Given the description of an element on the screen output the (x, y) to click on. 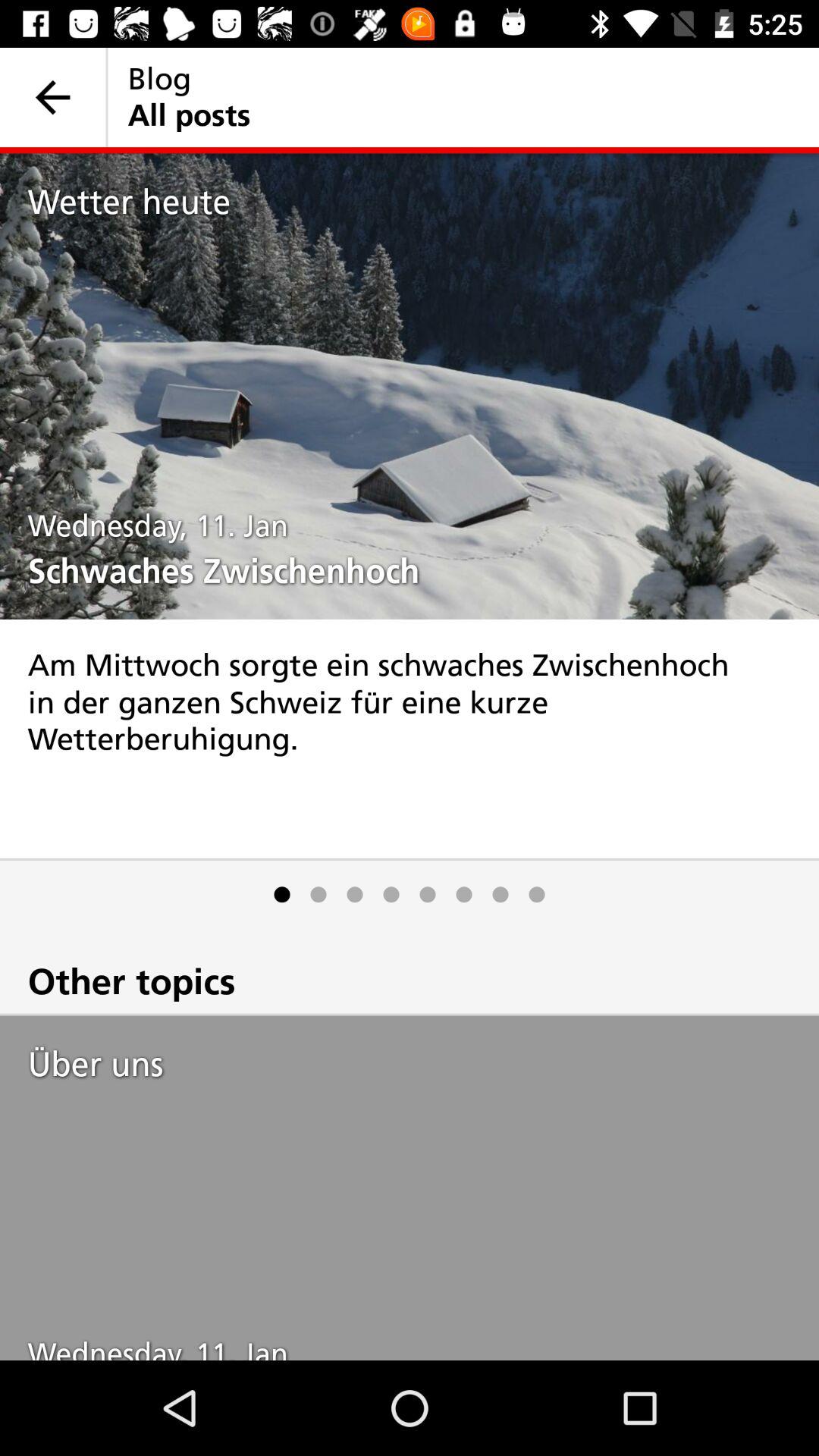
choose the icon below am mittwoch sorgte icon (464, 894)
